Given the description of an element on the screen output the (x, y) to click on. 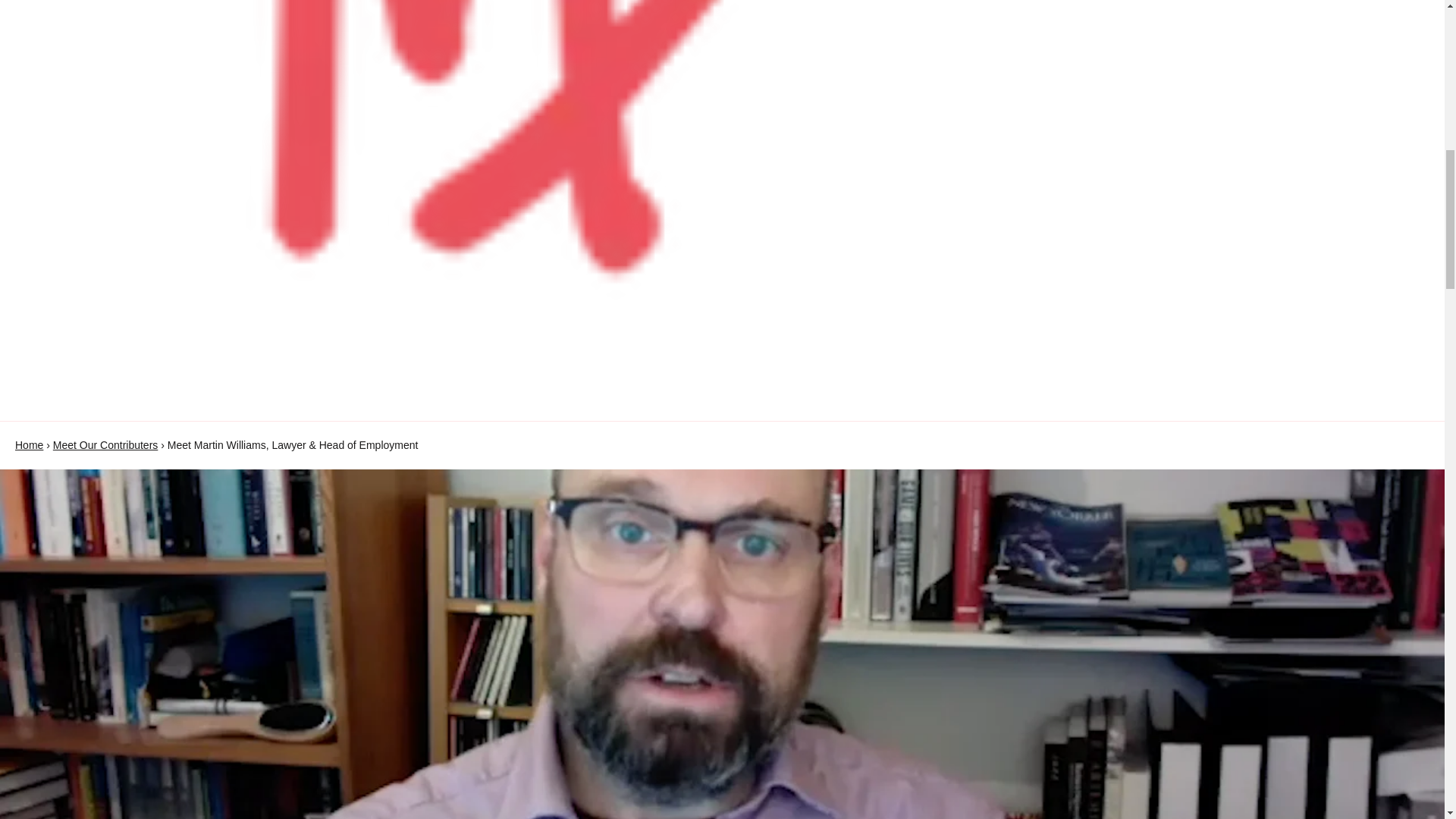
Home (28, 444)
